Given the description of an element on the screen output the (x, y) to click on. 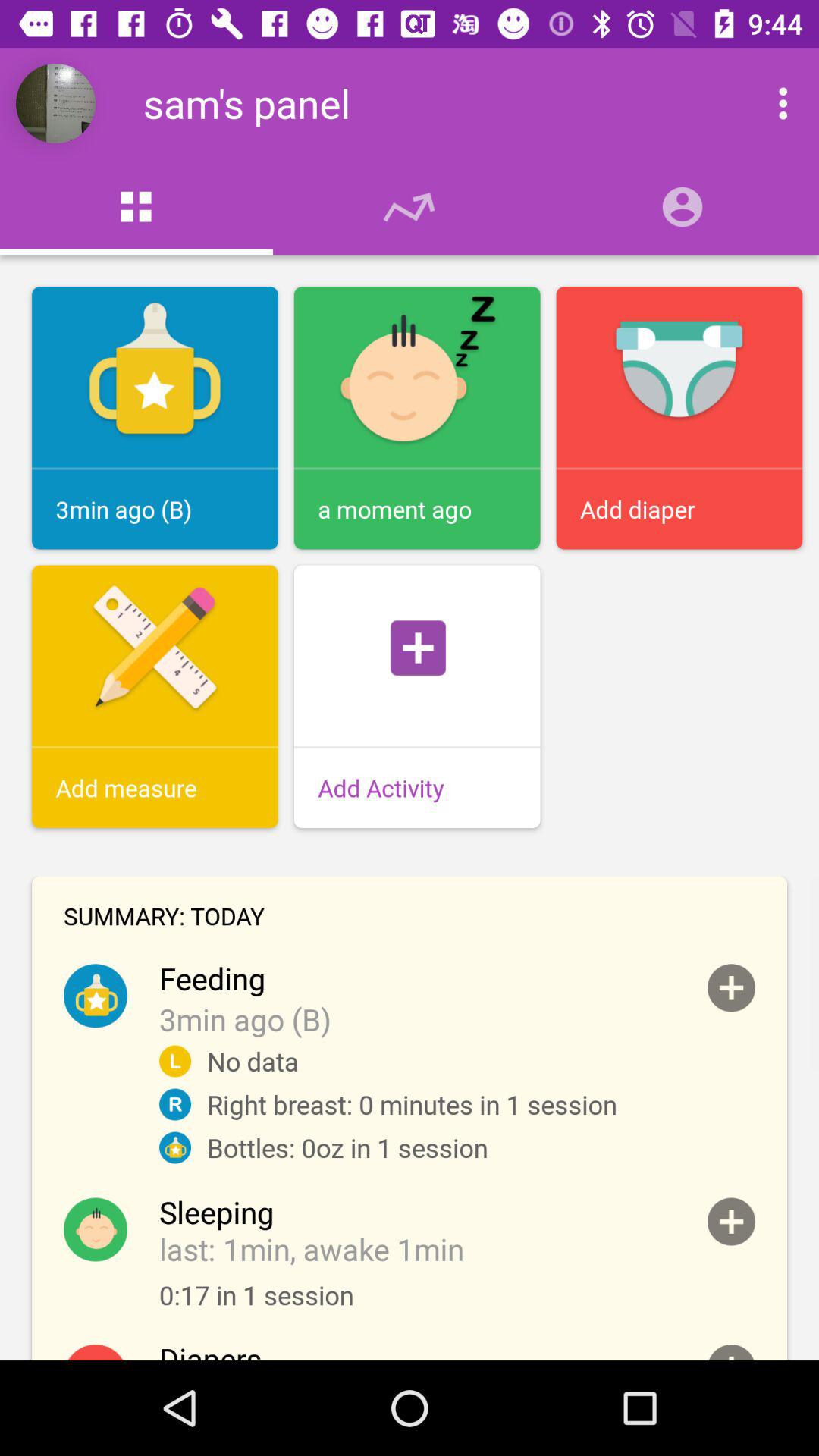
expand this option (731, 987)
